Given the description of an element on the screen output the (x, y) to click on. 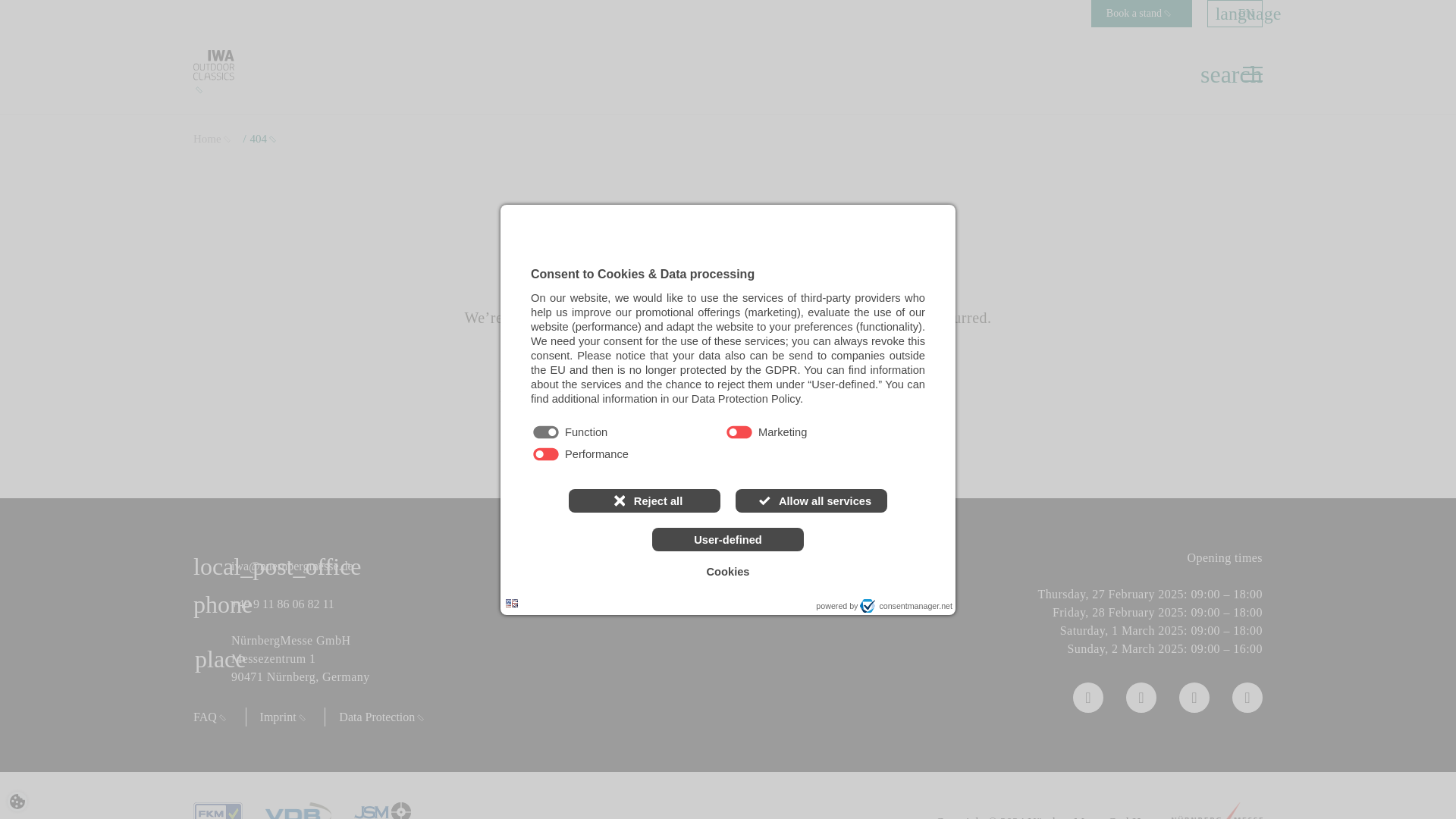
Cookies (727, 571)
Book a stand (1141, 13)
Purpose (727, 443)
Book a stand (1141, 13)
User-defined (727, 539)
search (1211, 74)
Language: en (511, 602)
Language: en (511, 602)
consentmanager.net (906, 605)
Allow all services (810, 499)
Reject all (644, 499)
